Given the description of an element on the screen output the (x, y) to click on. 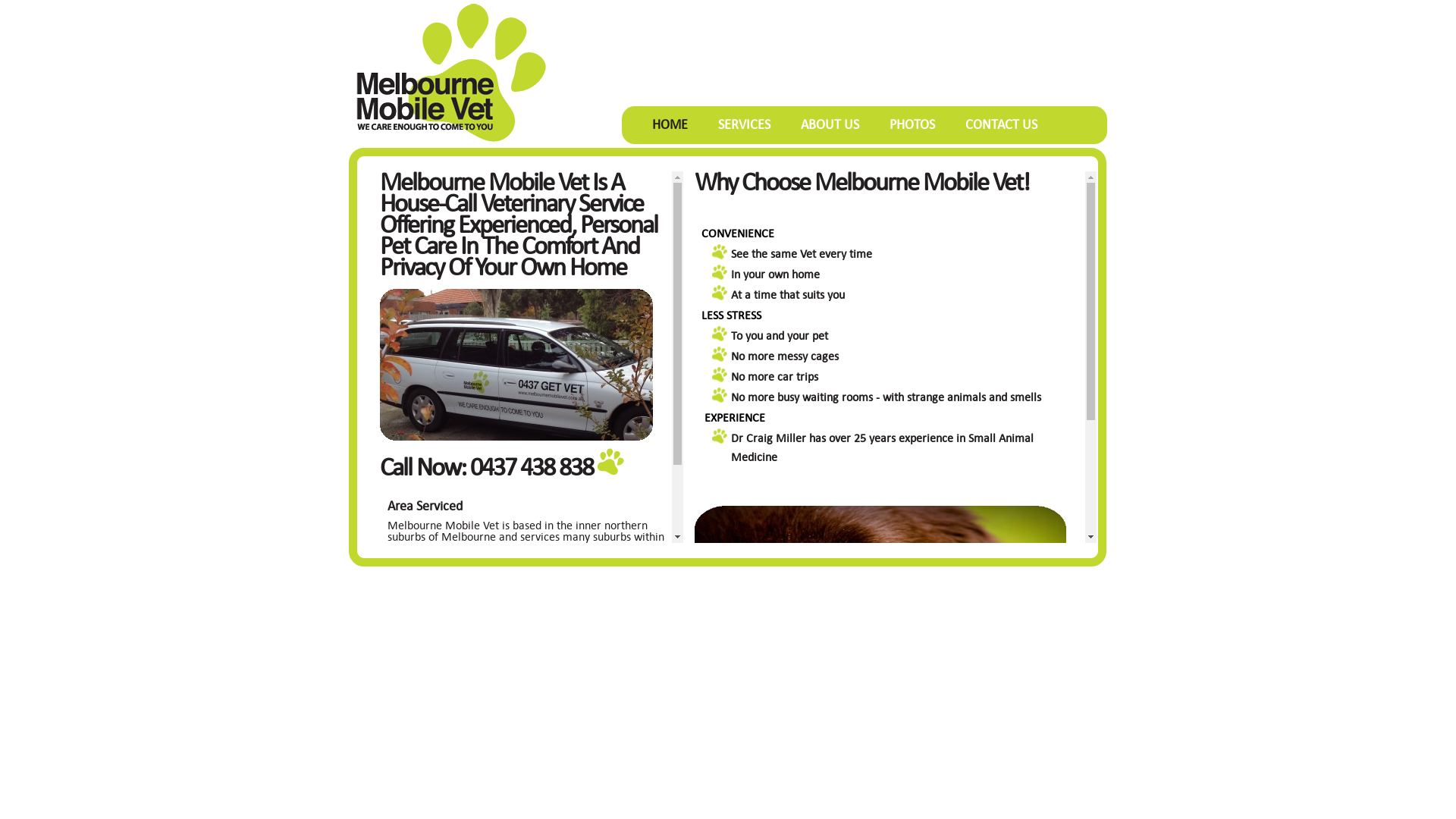
HOME Element type: text (669, 124)
ABOUT US Element type: text (829, 124)
SERVICES Element type: text (744, 124)
CONTACT US Element type: text (1001, 124)
PHOTOS Element type: text (912, 124)
